Given the description of an element on the screen output the (x, y) to click on. 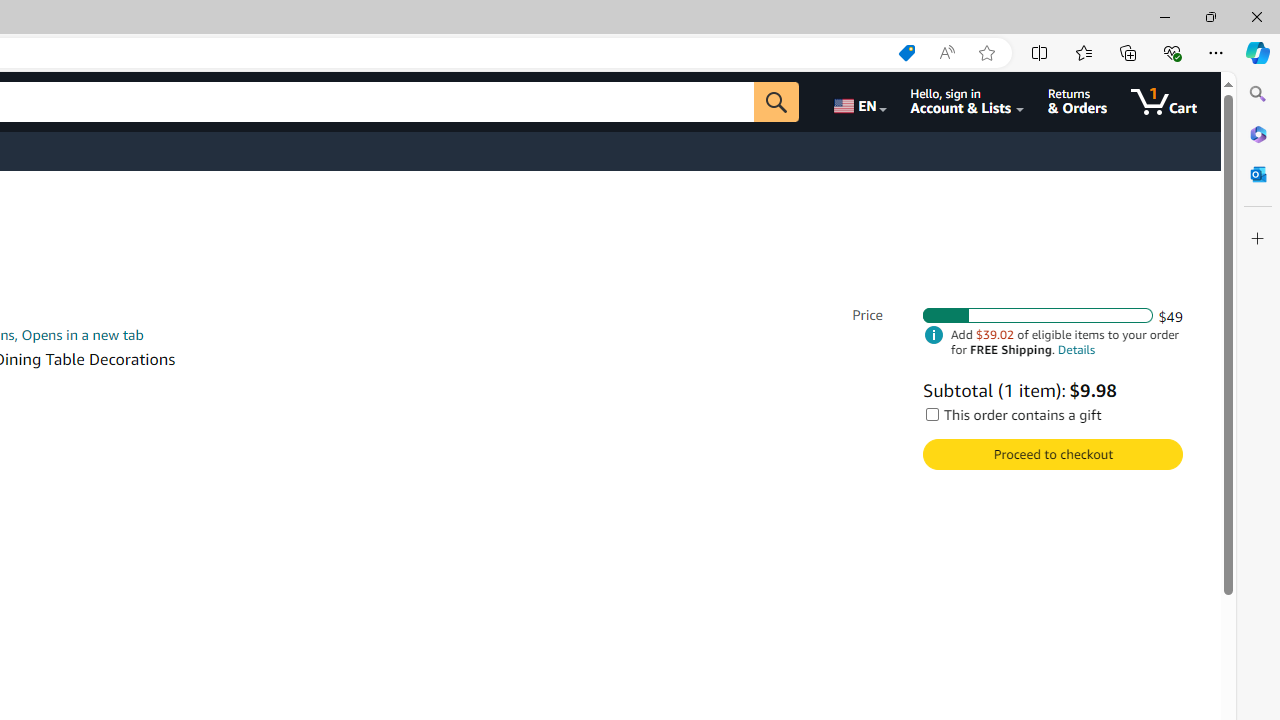
Choose a language for shopping. (858, 101)
1 item in cart (1163, 101)
Details (1076, 349)
Proceed to checkout Check out Amazon Cart (1052, 453)
This order contains a gift (932, 414)
Hello, sign in Account & Lists (967, 101)
